Given the description of an element on the screen output the (x, y) to click on. 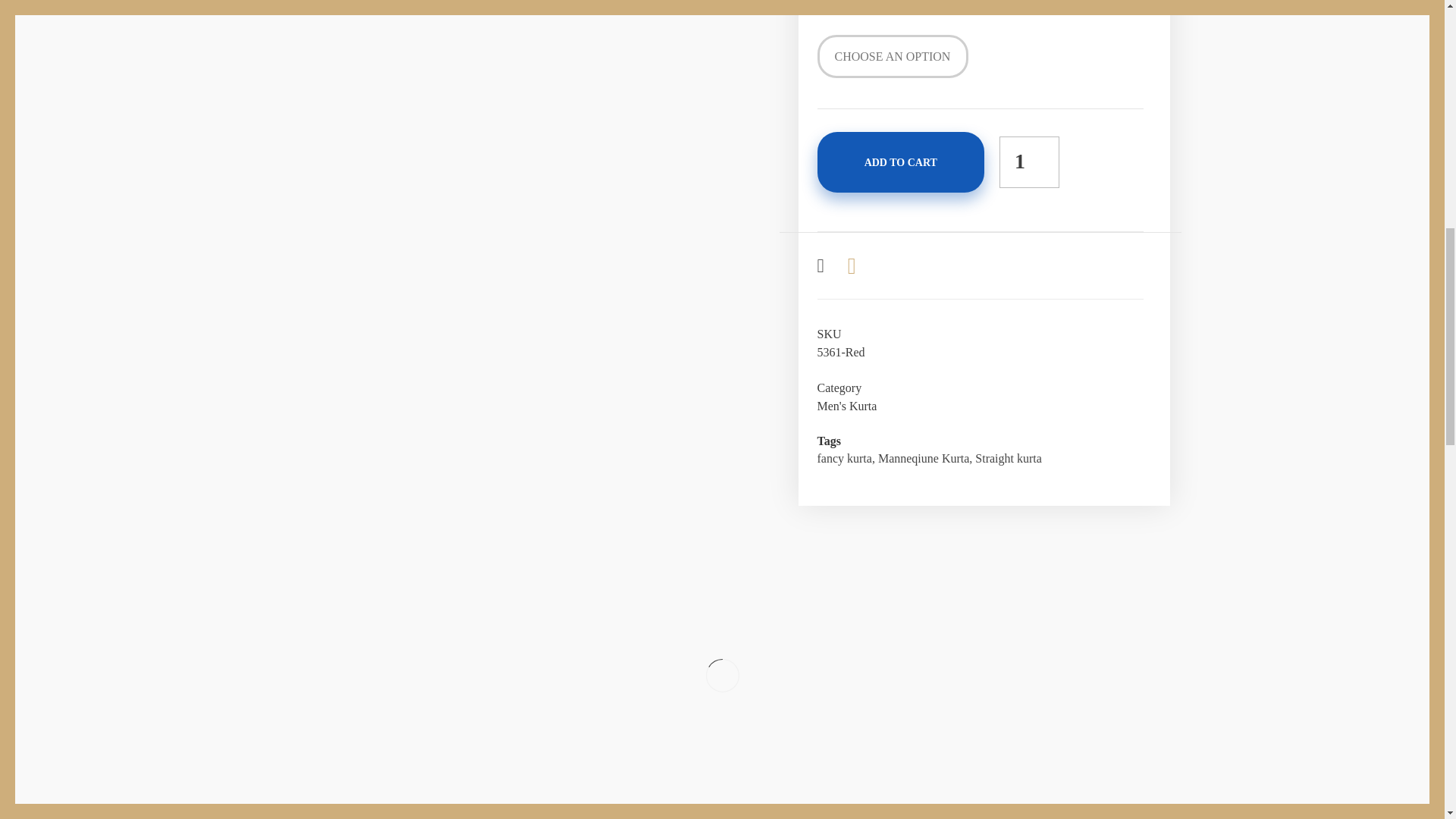
Straight kurta (1008, 458)
fancy kurta (844, 458)
1 (1029, 162)
Manneqiune Kurta (923, 458)
Men's Kurta (846, 405)
Qty (1029, 162)
ADD TO CART (900, 161)
